Given the description of an element on the screen output the (x, y) to click on. 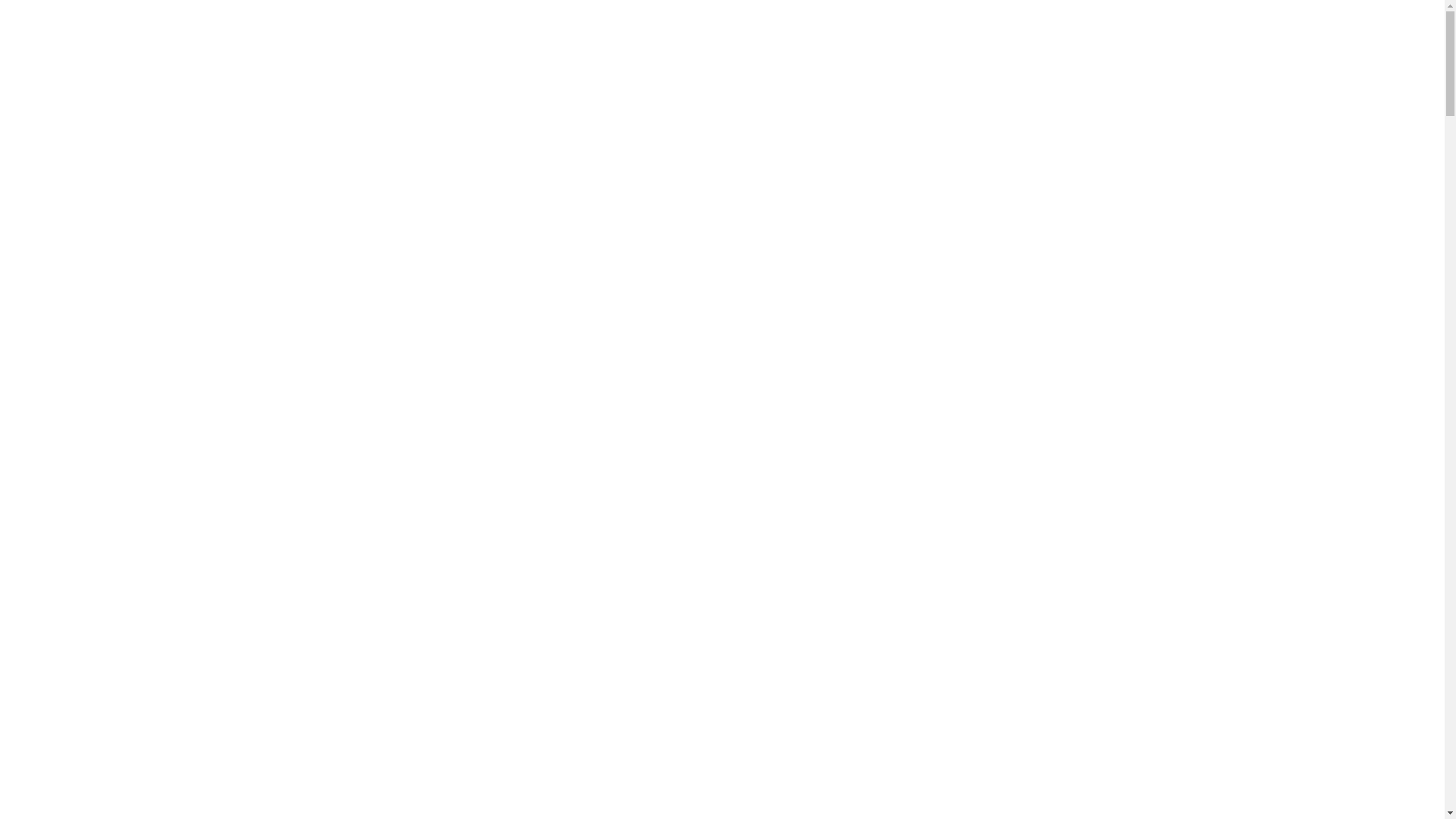
Vereinswerte Element type: text (765, 732)
Hier Element type: text (289, 636)
Statuten Element type: text (754, 764)
